Given the description of an element on the screen output the (x, y) to click on. 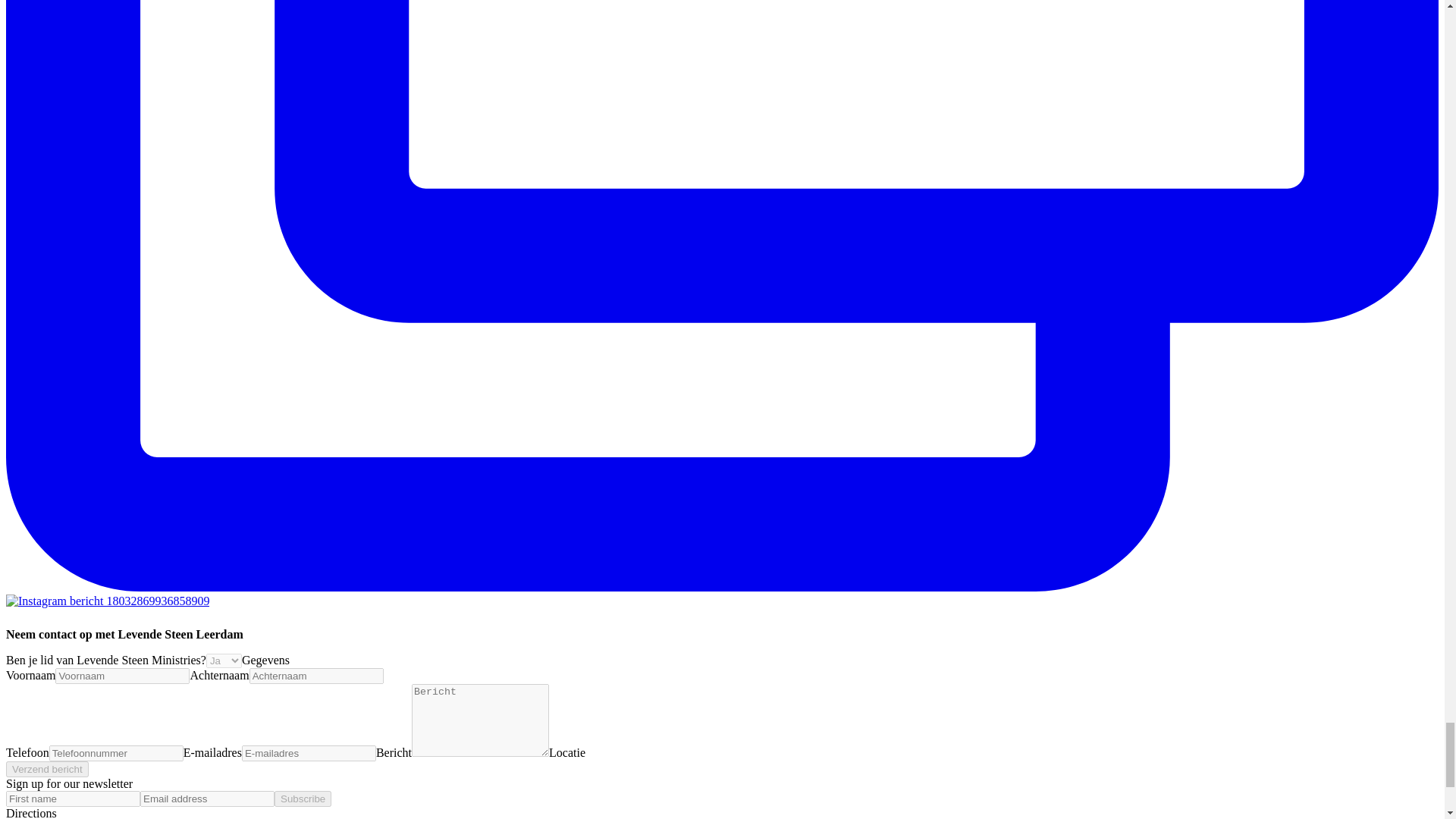
Subscribe (303, 798)
Subscribe (303, 798)
Verzend bericht (46, 769)
